Given the description of an element on the screen output the (x, y) to click on. 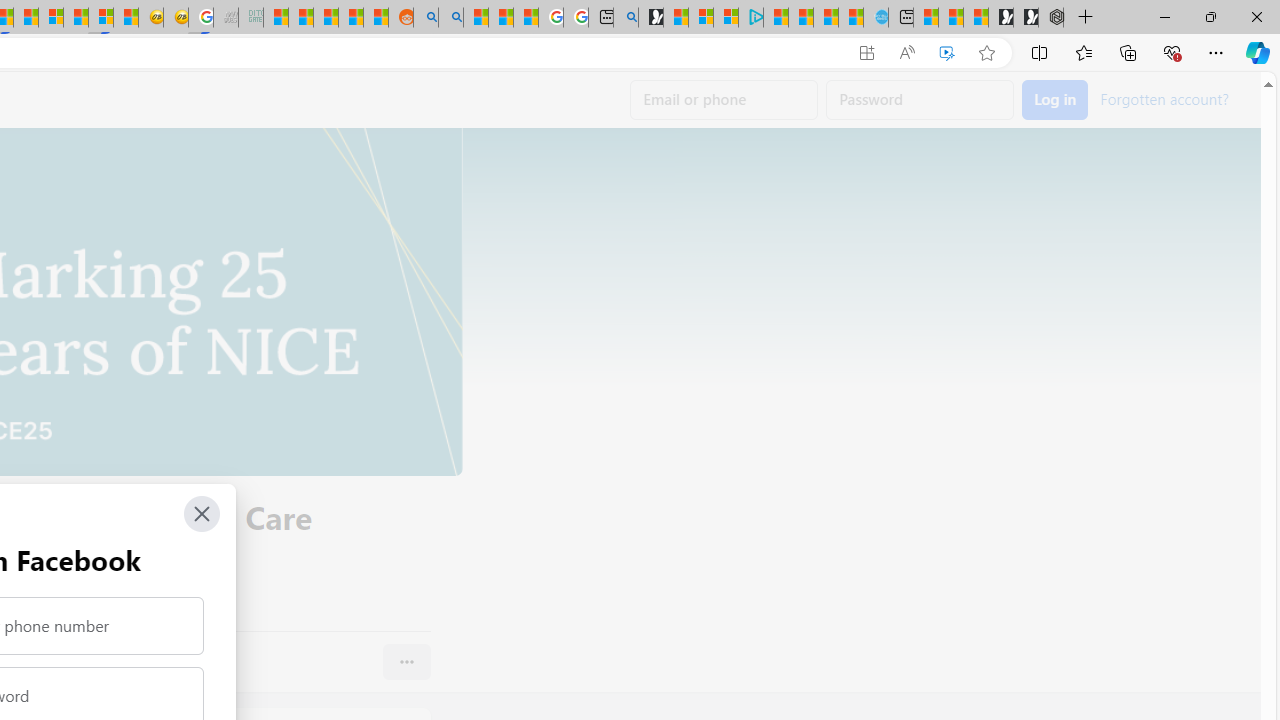
Bing Real Estate - Home sales and rental listings (625, 17)
Password (920, 99)
Nordace - Nordace Siena Is Not An Ordinary Backpack (1051, 17)
Home | Sky Blue Bikes - Sky Blue Bikes (876, 17)
